Given the description of an element on the screen output the (x, y) to click on. 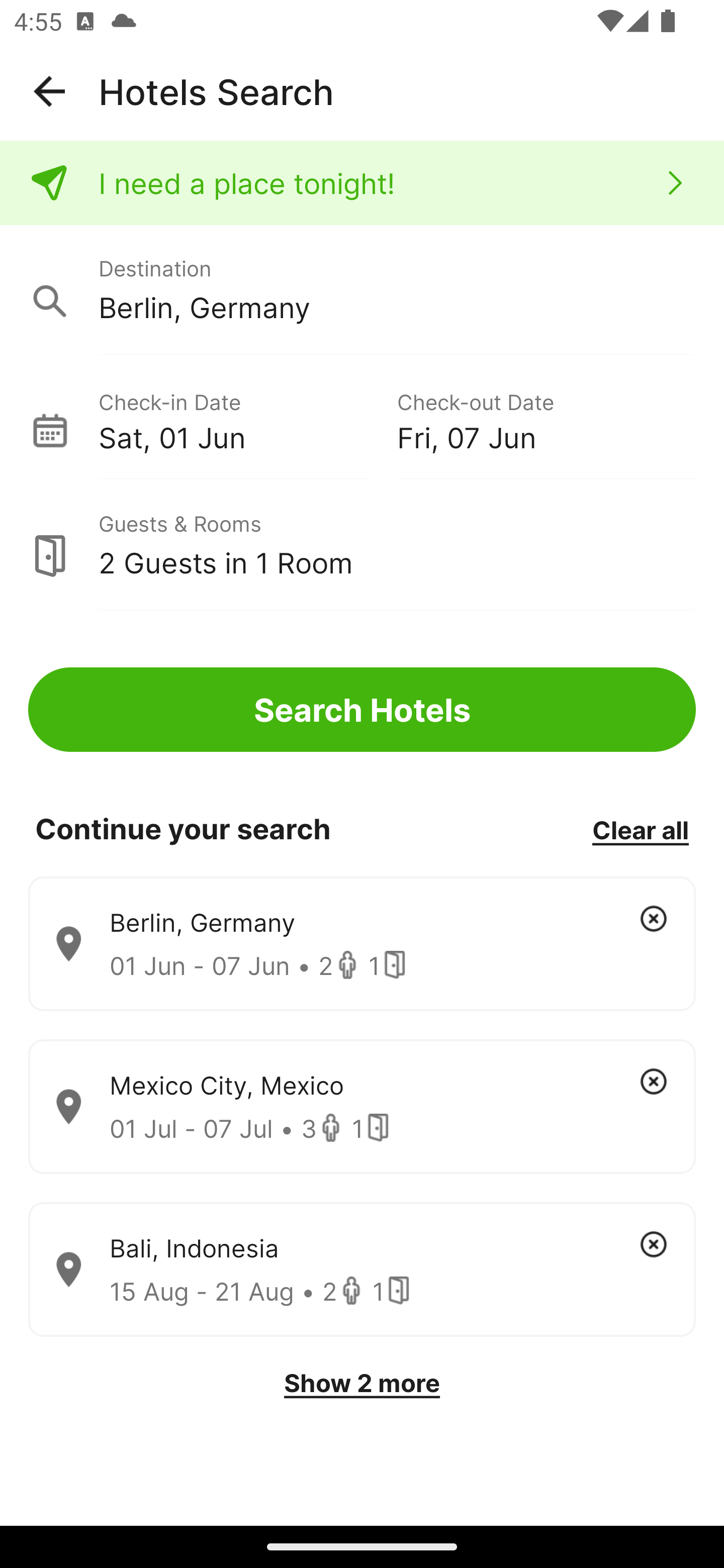
I need a place tonight! (362, 183)
Destination Berlin, Germany (362, 290)
Check-in Date Sat, 01 Jun (247, 418)
Check-out Date Fri, 07 Jun (546, 418)
Guests & Rooms 2 Guests in 1 Room (362, 545)
Search Hotels (361, 709)
Clear all (640, 829)
Berlin, Germany 01 Jun - 07 Jun • 2  1  (361, 943)
Mexico City, Mexico 01 Jul - 07 Jul • 3  1  (361, 1106)
Bali, Indonesia 15 Aug - 21 Aug • 2  1  (361, 1269)
Show 2 more (362, 1382)
